Given the description of an element on the screen output the (x, y) to click on. 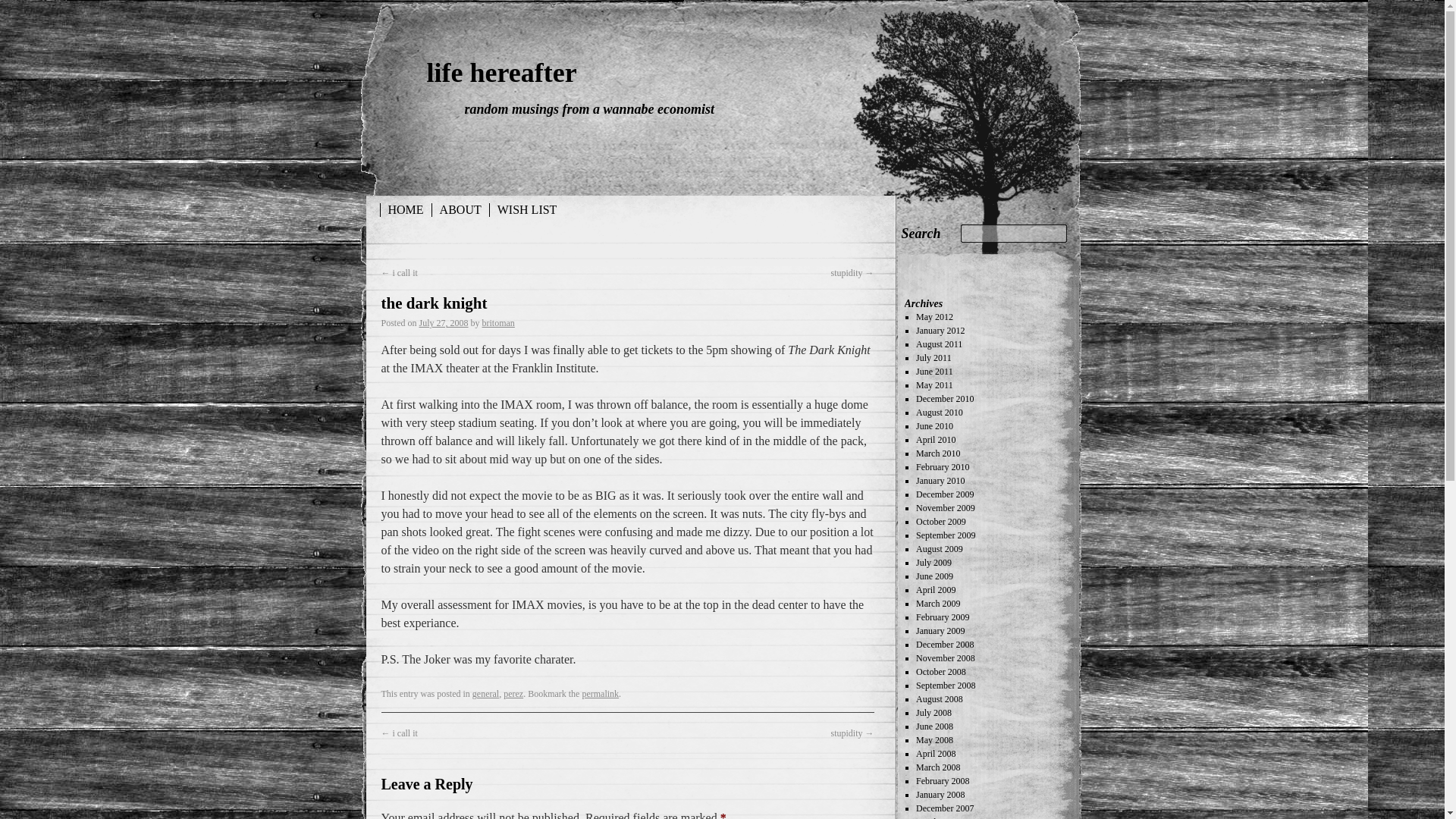
January 2012 (939, 330)
February 2009 (942, 616)
June 2010 (934, 425)
britoman (498, 322)
May 2012 (934, 317)
ABOUT (460, 210)
July 2009 (933, 562)
September 2009 (945, 534)
January 2009 (939, 630)
June 2011 (934, 371)
